Given the description of an element on the screen output the (x, y) to click on. 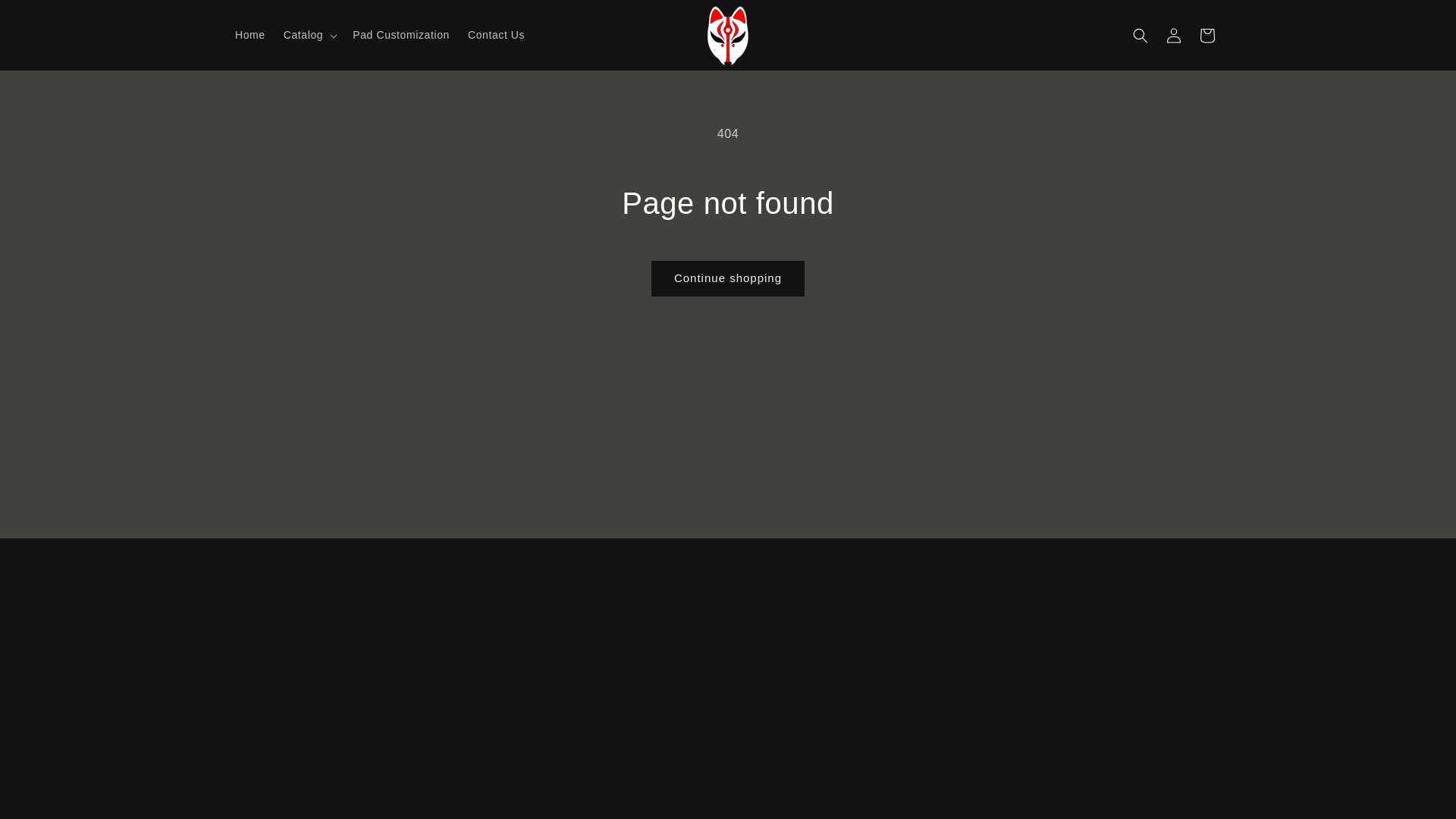
Skip to content (45, 17)
